Given the description of an element on the screen output the (x, y) to click on. 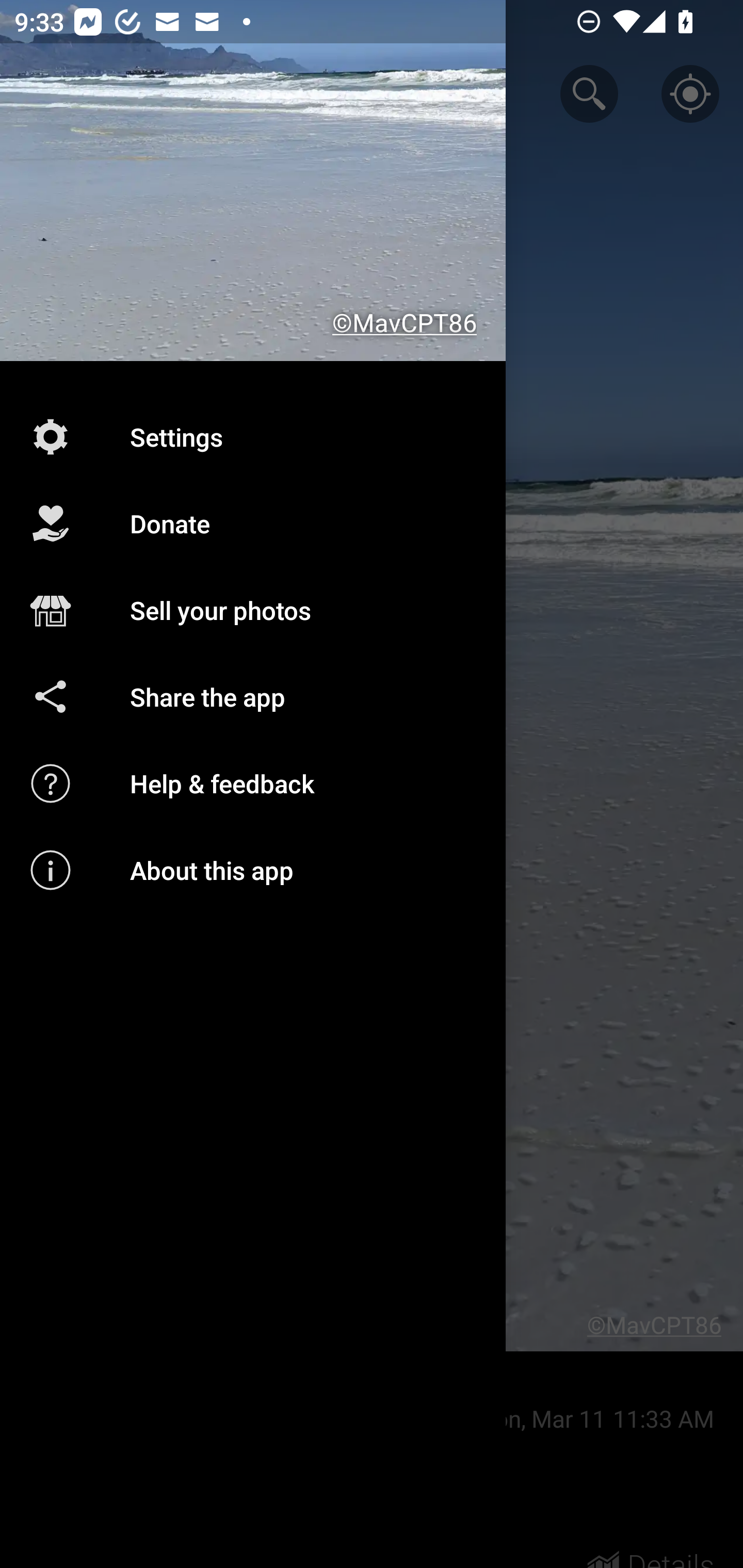
©MavCPT86 (252, 180)
Settings (252, 436)
Donate (252, 523)
Sell your photos (252, 610)
Share the app (252, 696)
Help & feedback (252, 783)
About this app (252, 870)
